Given the description of an element on the screen output the (x, y) to click on. 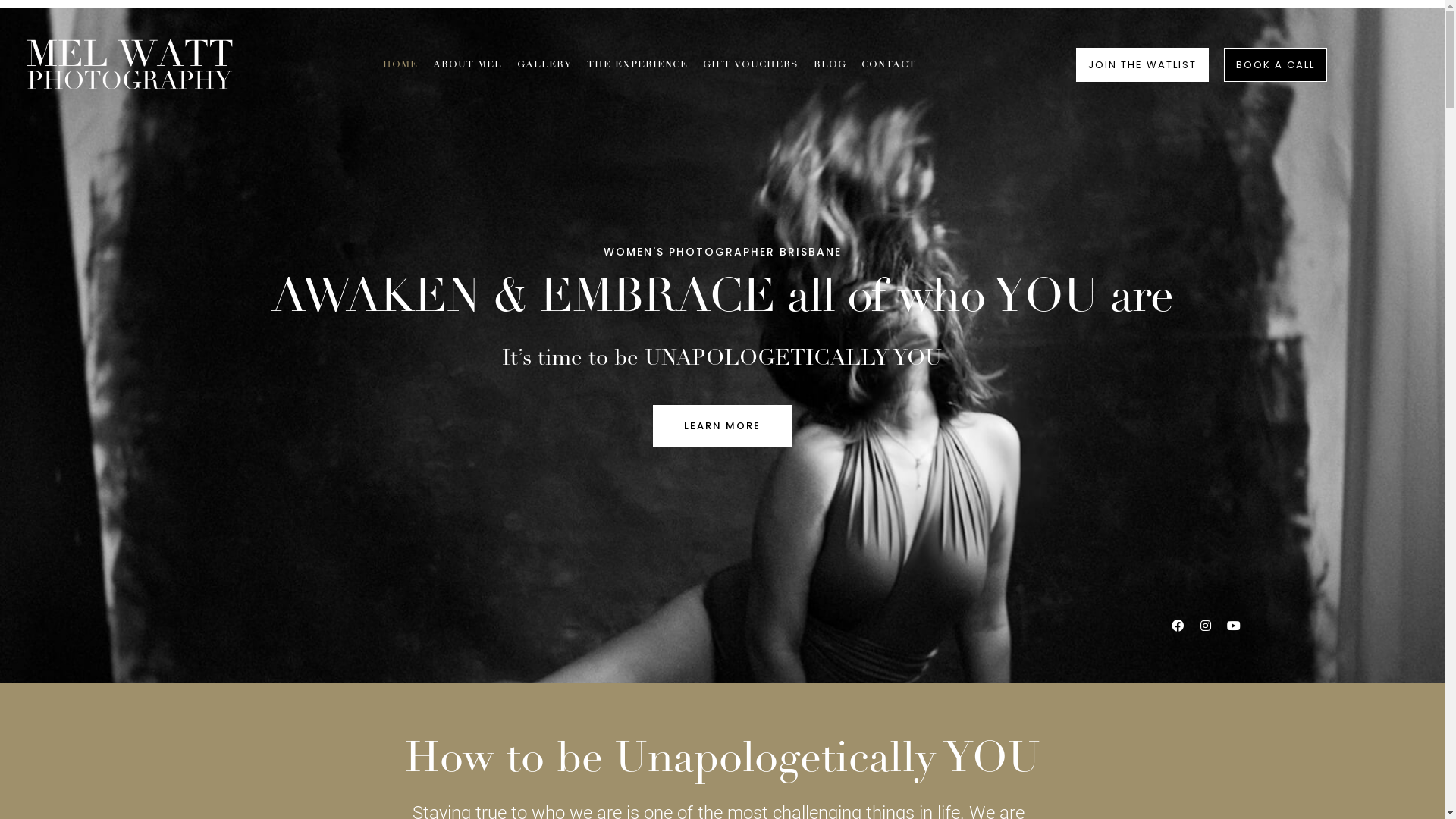
HOME Element type: text (400, 64)
BLOG Element type: text (829, 64)
LEARN MORE Element type: text (721, 425)
THE EXPERIENCE Element type: text (637, 64)
ABOUT MEL Element type: text (467, 64)
JOIN THE WATLIST Element type: text (1142, 64)
CONTACT Element type: text (888, 64)
BOOK A CALL Element type: text (1275, 64)
GALLERY Element type: text (544, 64)
GIFT VOUCHERS Element type: text (750, 64)
